Given the description of an element on the screen output the (x, y) to click on. 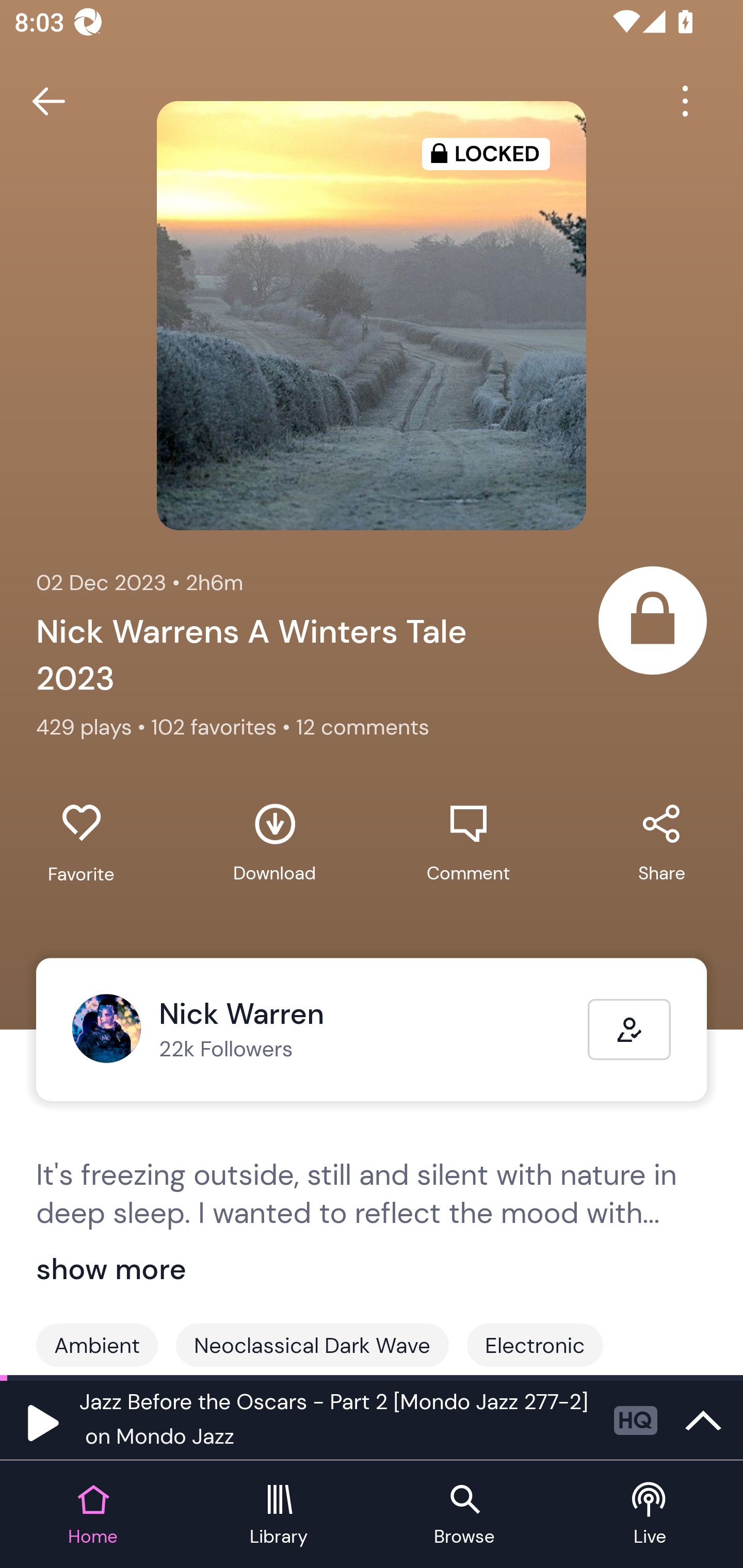
102 favorites •  (223, 726)
12 comments (362, 726)
Favorite (81, 843)
Download (274, 843)
Comment (467, 843)
Share (661, 843)
Following (628, 1028)
Ambient (96, 1345)
Neoclassical Dark Wave (312, 1345)
Electronic (534, 1345)
Home tab Home (92, 1515)
Library tab Library (278, 1515)
Browse tab Browse (464, 1515)
Live tab Live (650, 1515)
